Given the description of an element on the screen output the (x, y) to click on. 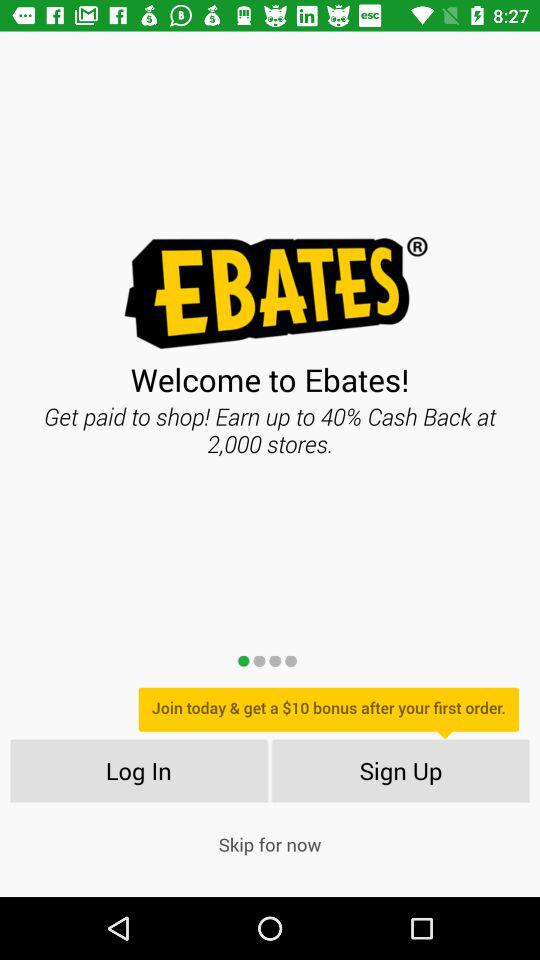
turn on the skip for now (269, 844)
